Given the description of an element on the screen output the (x, y) to click on. 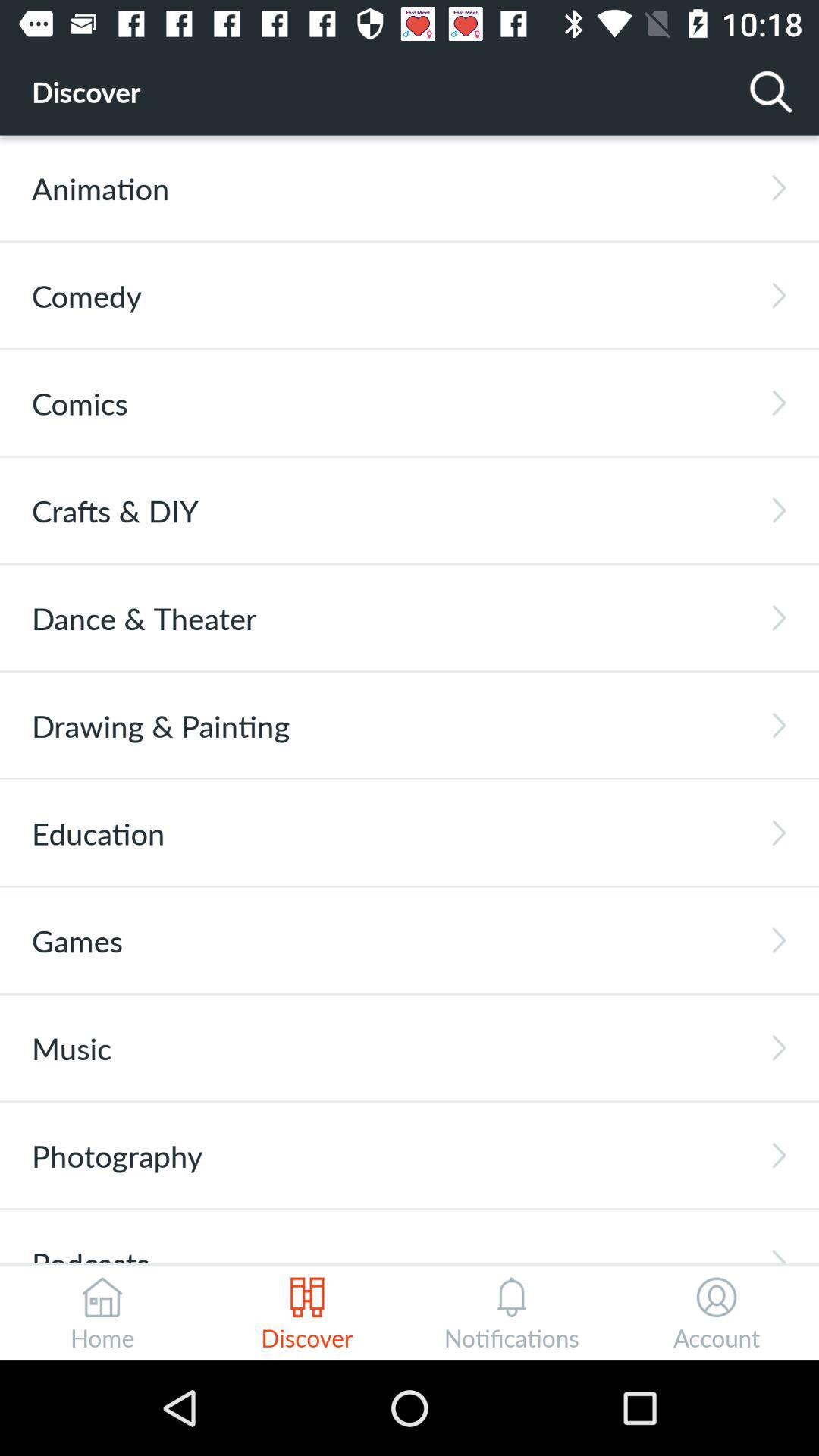
launch the item to the right of discover icon (771, 91)
